Given the description of an element on the screen output the (x, y) to click on. 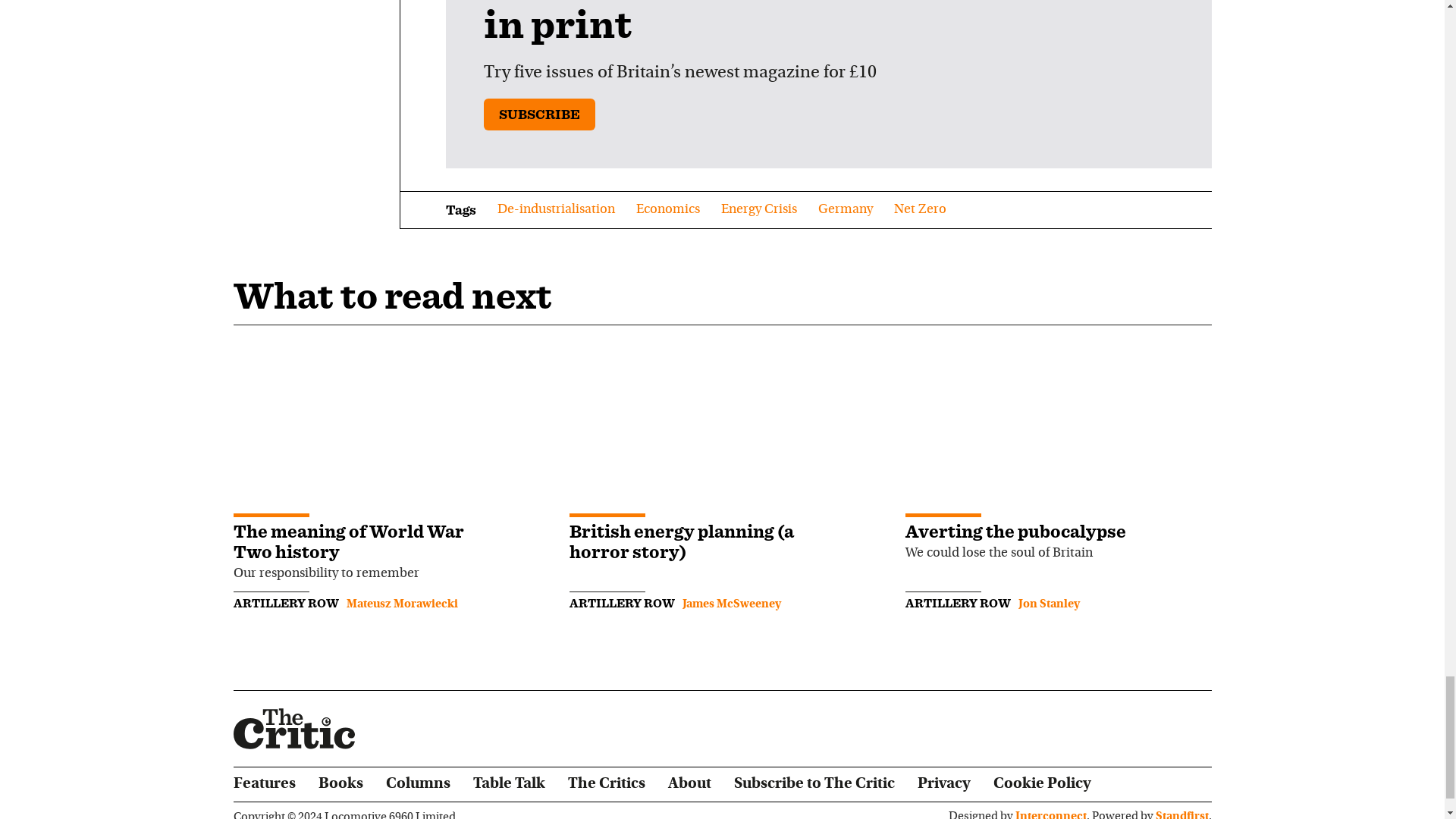
Posts by James McSweeney (731, 604)
Posts by Jon Stanley (1048, 604)
Posts by Mateusz Morawiecki (401, 604)
Economics (666, 209)
SUBSCRIBE (539, 114)
De-industrialisation (555, 209)
